Given the description of an element on the screen output the (x, y) to click on. 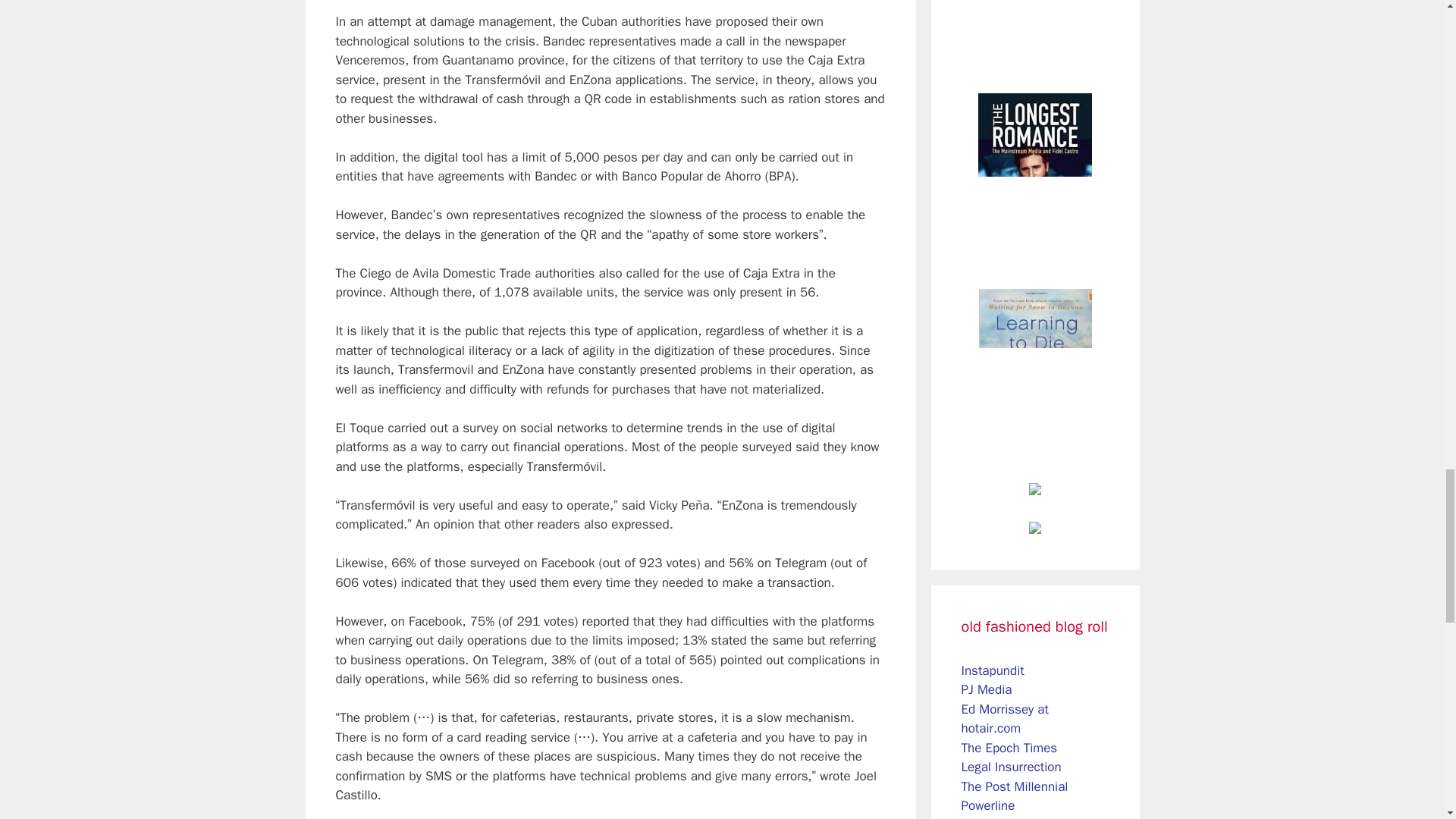
Ed Morrissey at hotair.com (1004, 719)
Instapundit (992, 670)
PJ Media (985, 689)
Legal Insurrection (1010, 766)
The Post Millennial (1014, 786)
The Epoch Times (1009, 747)
